Given the description of an element on the screen output the (x, y) to click on. 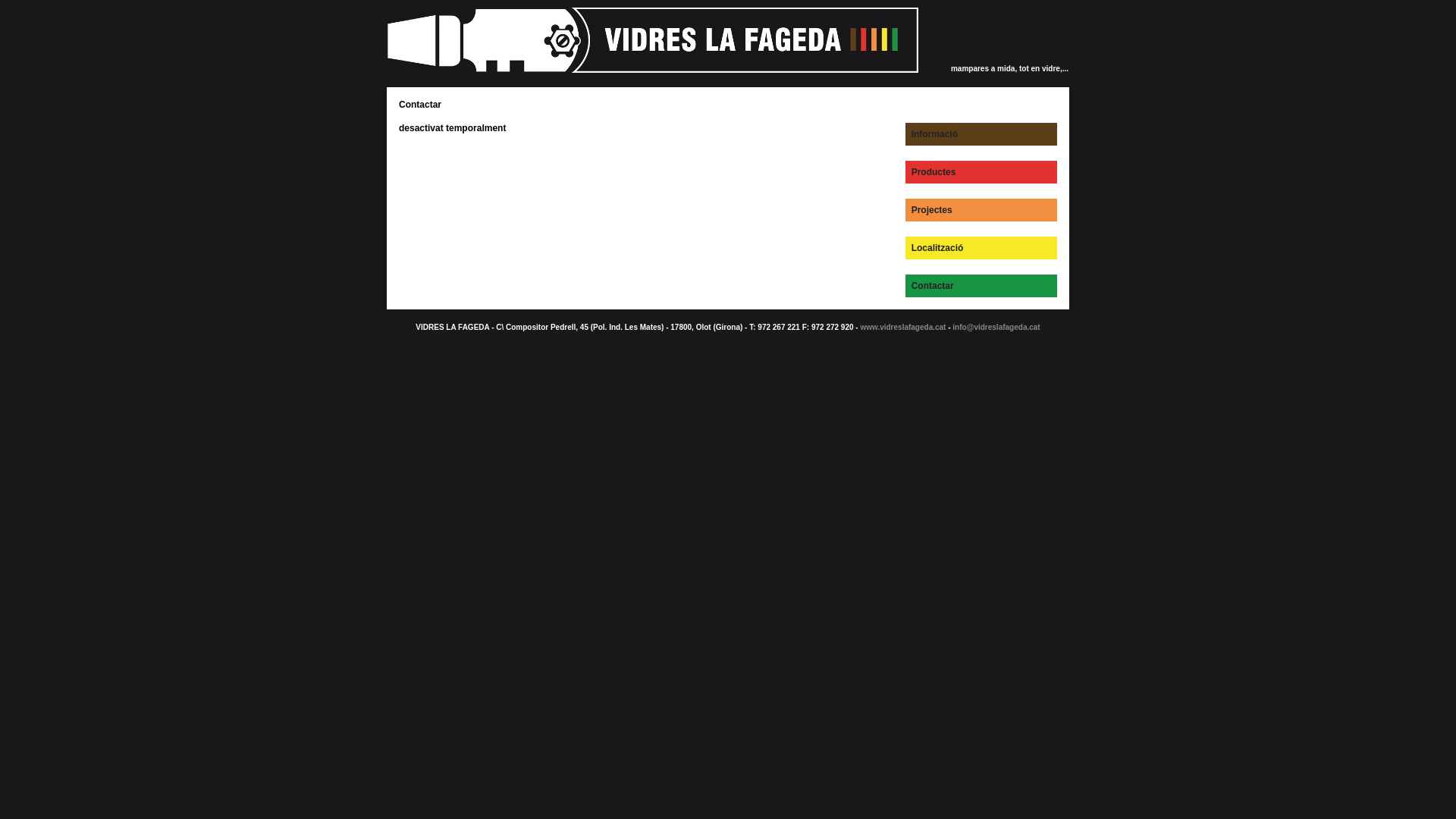
www.vidreslafageda.cat Element type: text (902, 327)
  Productes Element type: text (930, 171)
  Projectes Element type: text (929, 209)
info@vidreslafageda.cat Element type: text (995, 327)
  Contactar Element type: text (929, 285)
